Given the description of an element on the screen output the (x, y) to click on. 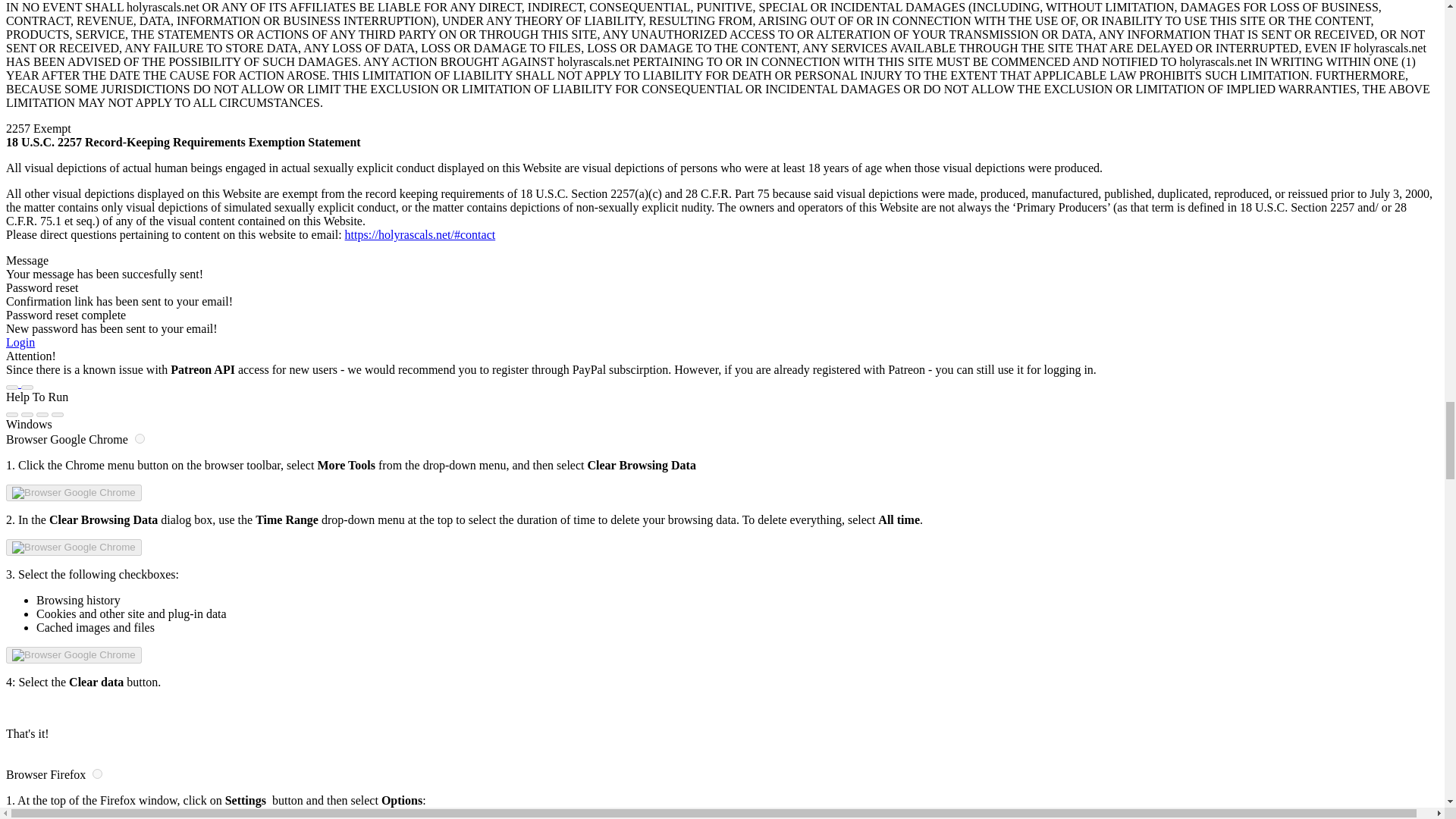
on (97, 773)
Login (19, 341)
on (139, 438)
